Given the description of an element on the screen output the (x, y) to click on. 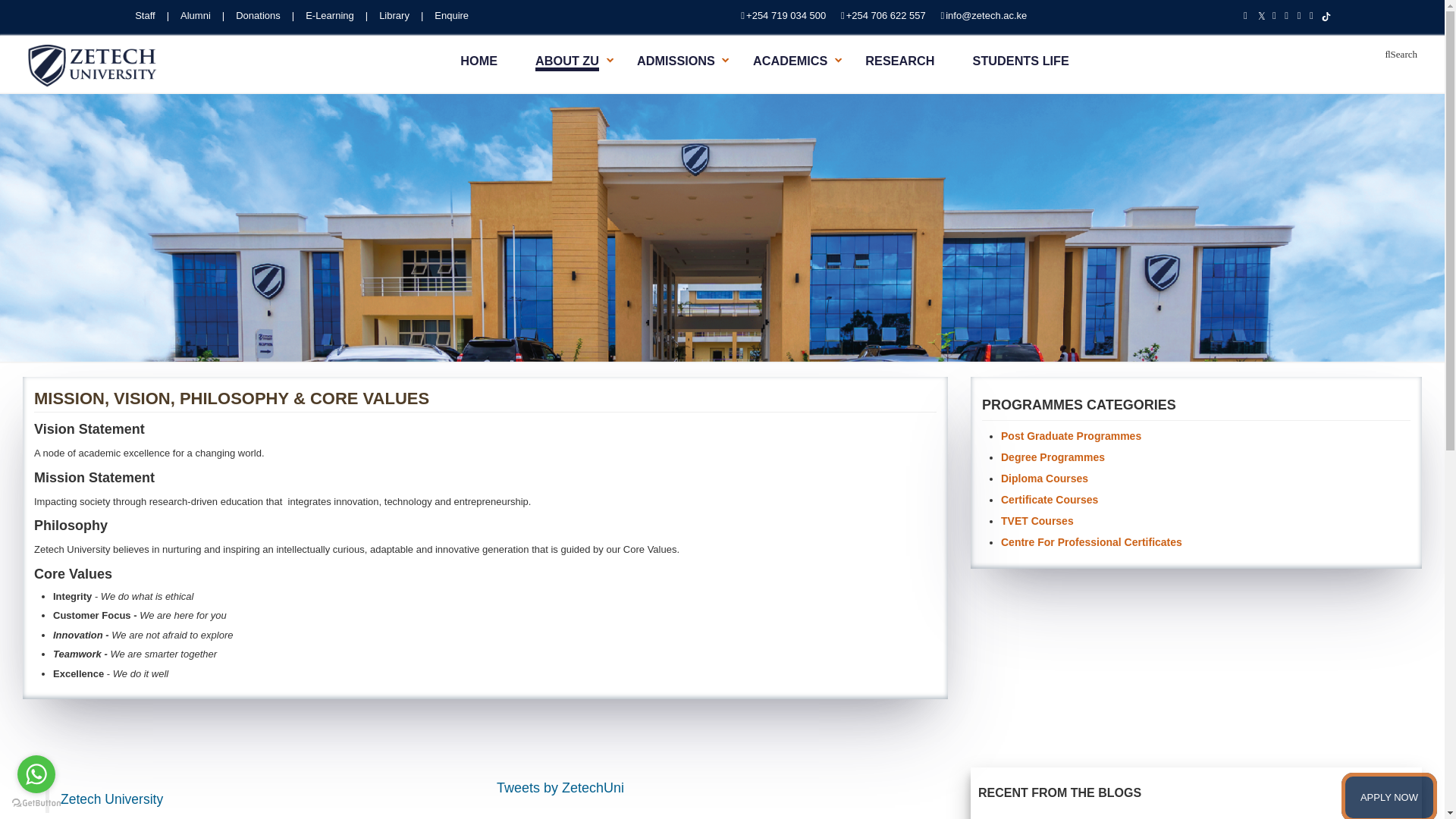
E-Learning (336, 15)
Library (400, 15)
Alumni (202, 15)
academics (838, 60)
Donations (264, 15)
HOME (478, 60)
Staff (151, 15)
ACADEMICS (789, 60)
ABOUT ZU (566, 62)
